Given the description of an element on the screen output the (x, y) to click on. 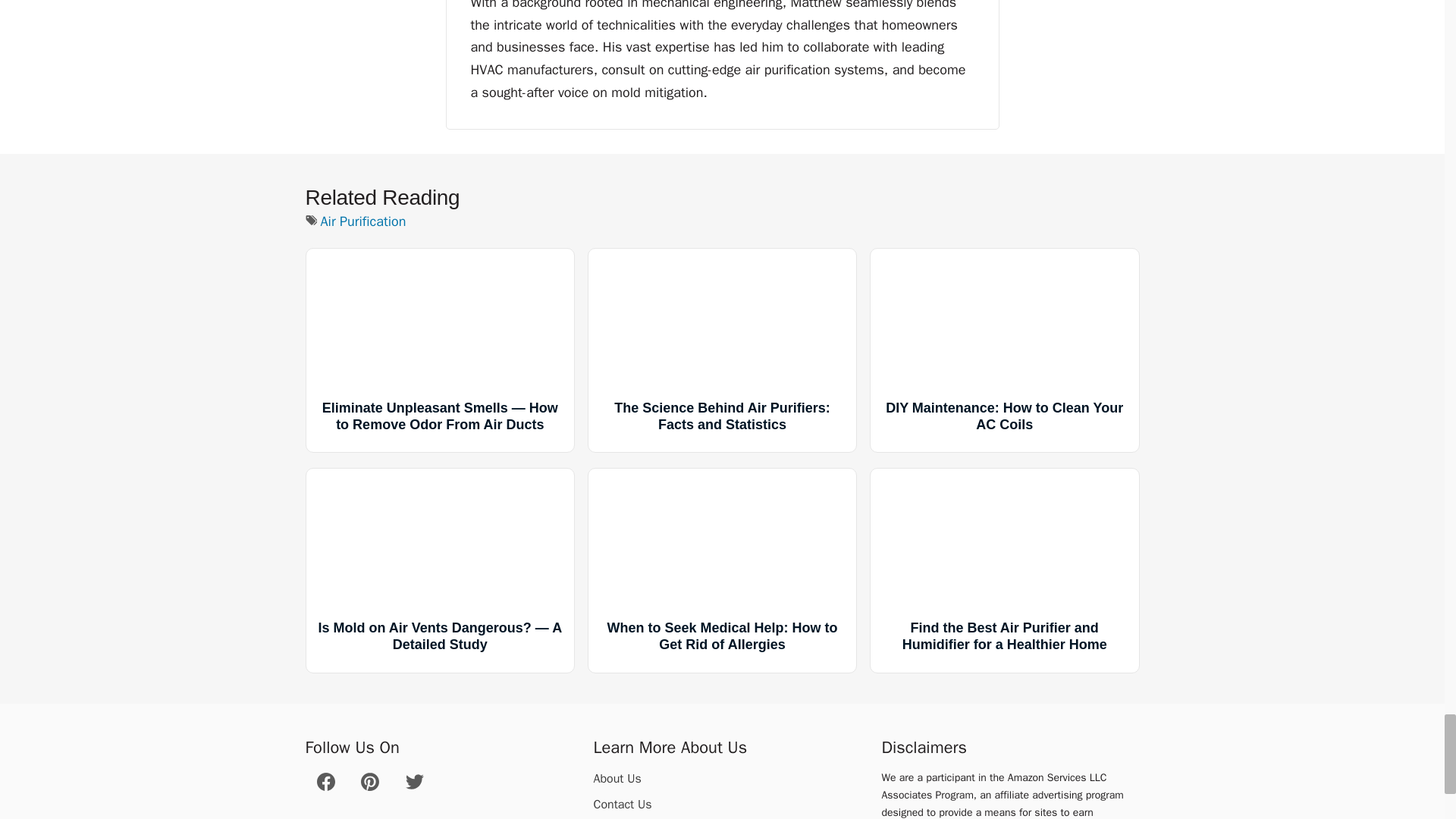
Facebook (325, 782)
Follow on Facebook (325, 786)
